Given the description of an element on the screen output the (x, y) to click on. 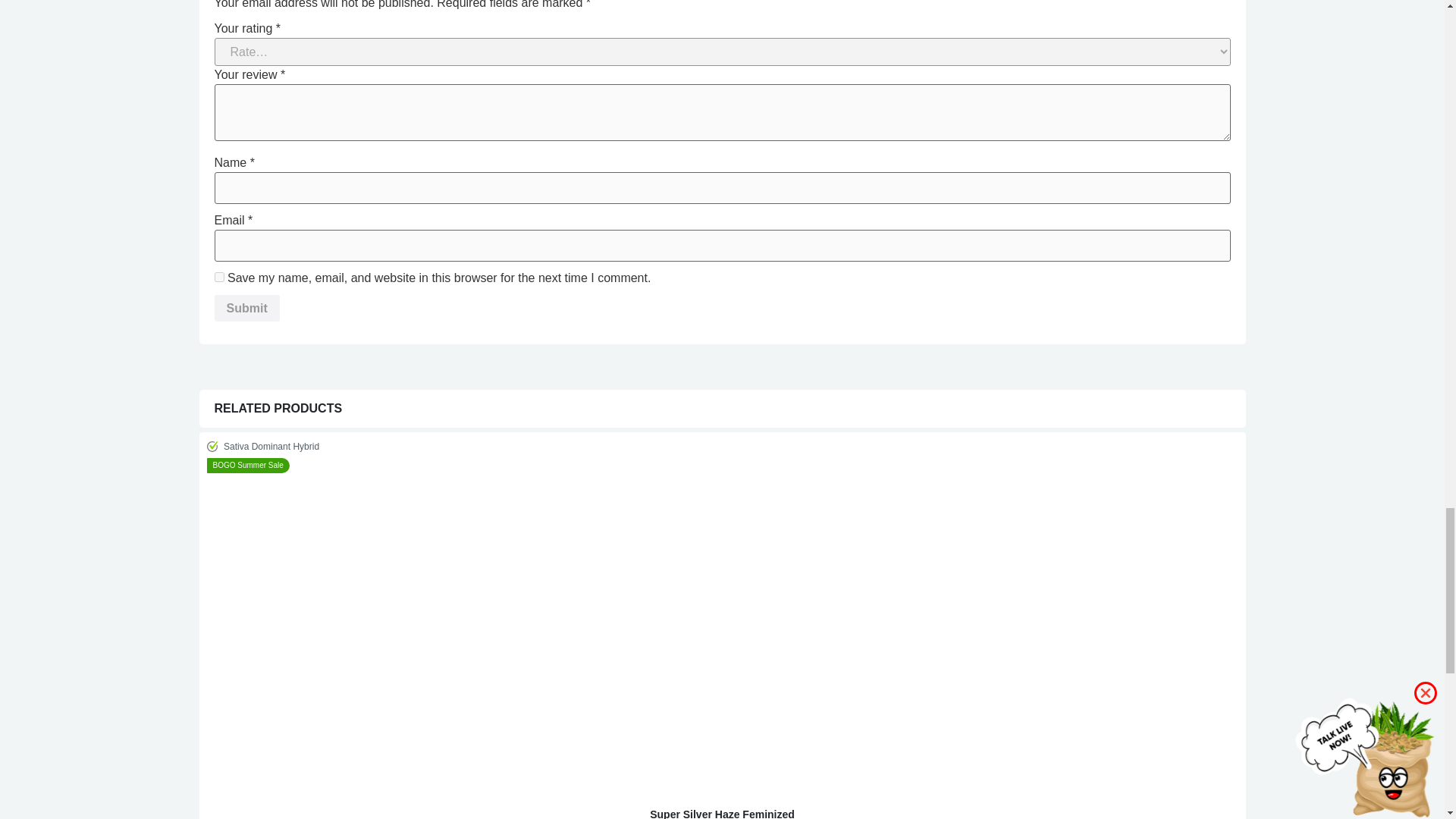
Submit (246, 308)
yes (219, 276)
